Given the description of an element on the screen output the (x, y) to click on. 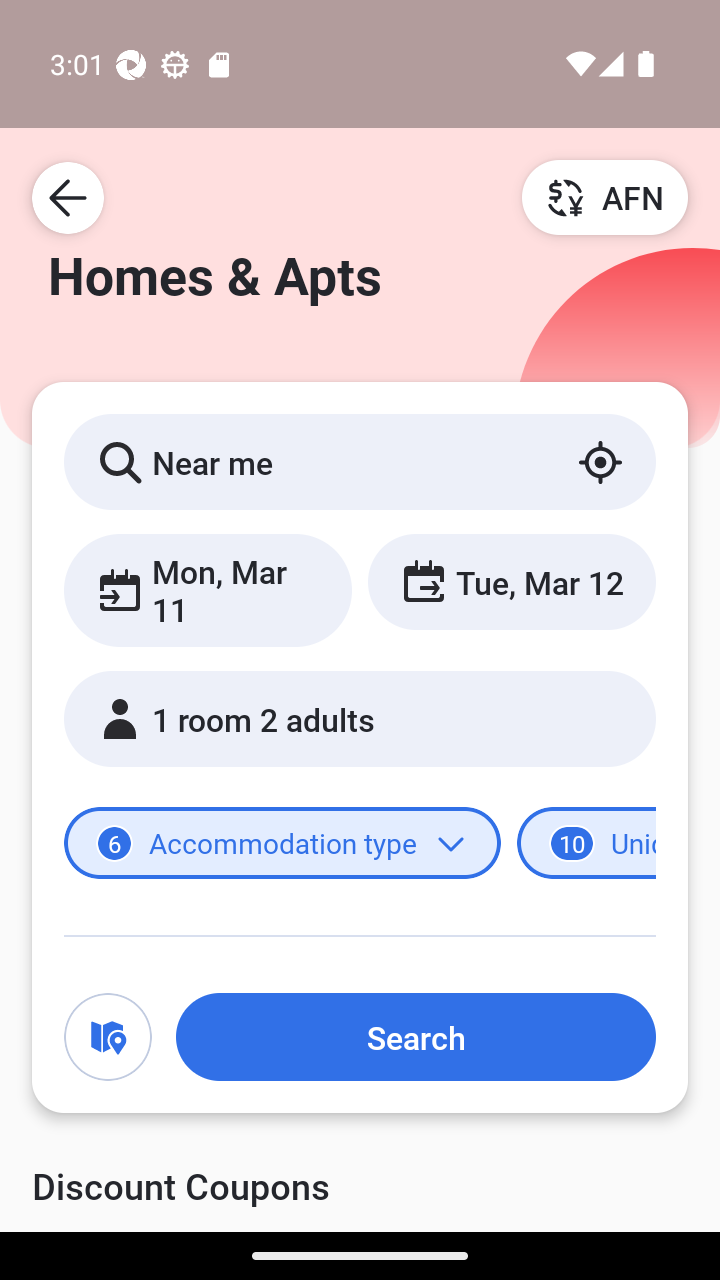
AFN (605, 197)
Near me (359, 461)
Mon, Mar 11 (208, 589)
Tue, Mar 12 (511, 581)
1 room 2 adults (359, 718)
6 Accommodation type (282, 842)
Search (415, 1037)
